Given the description of an element on the screen output the (x, y) to click on. 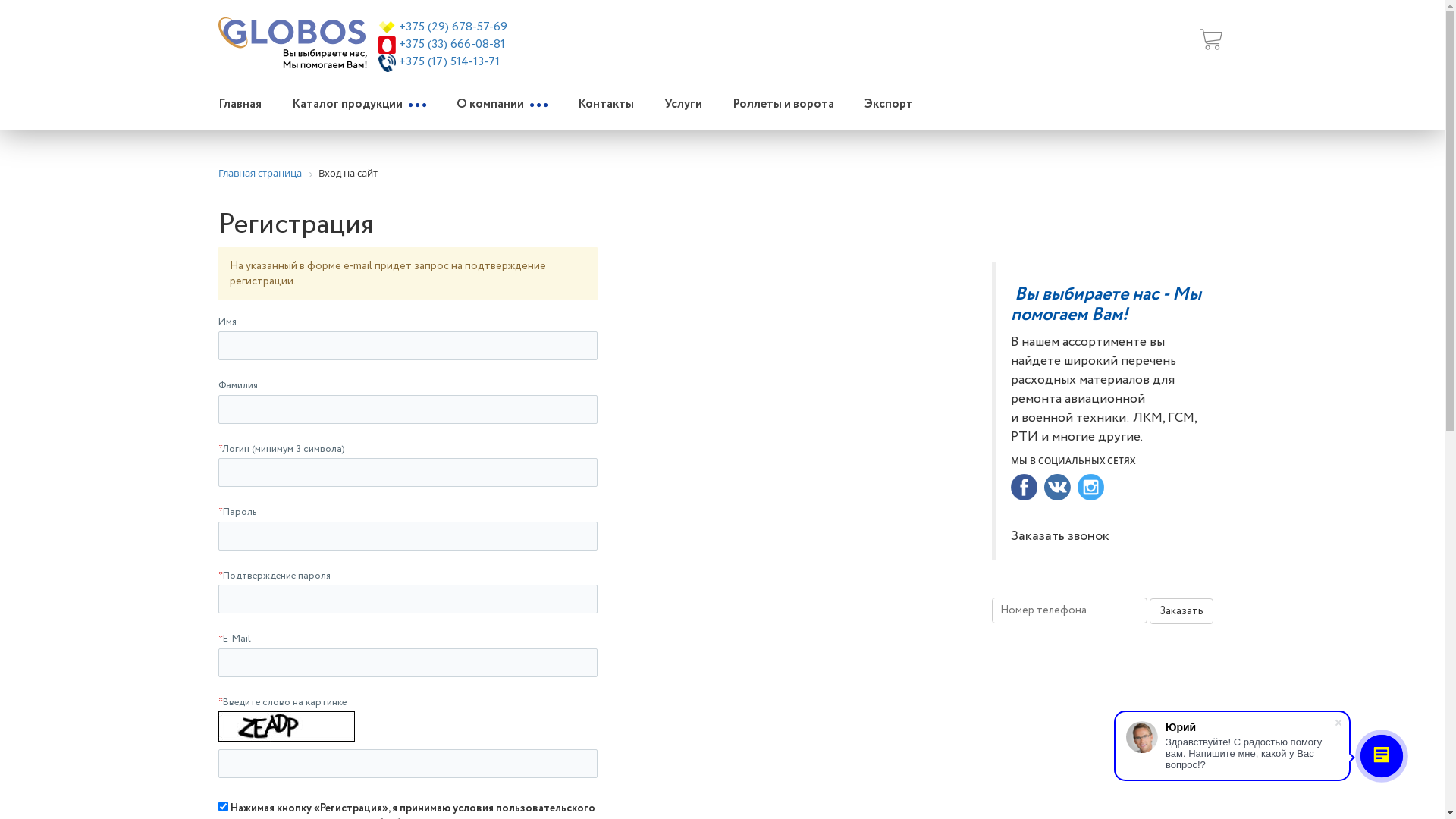
+375 (33) 666-08-81 Element type: text (451, 44)
+375 (17) 514-13-71 Element type: text (448, 61)
velcom.png Element type: hover (386, 27)
+375 (29) 678-57-69 Element type: text (452, 26)
tel_icon.png Element type: hover (386, 62)
